Given the description of an element on the screen output the (x, y) to click on. 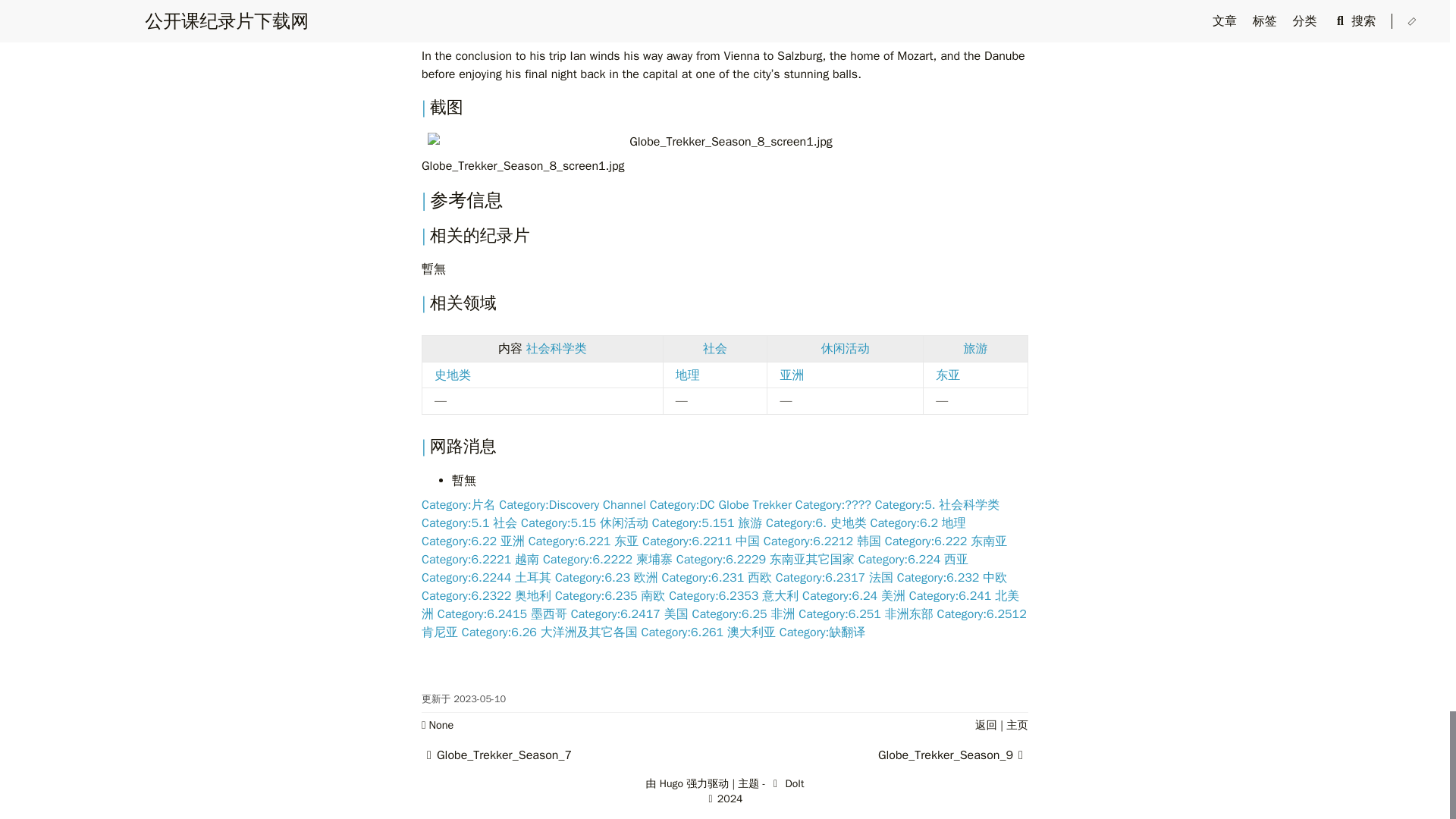
wikilink (714, 348)
wikilink (845, 348)
wikilink (975, 348)
wikilink (555, 348)
